Given the description of an element on the screen output the (x, y) to click on. 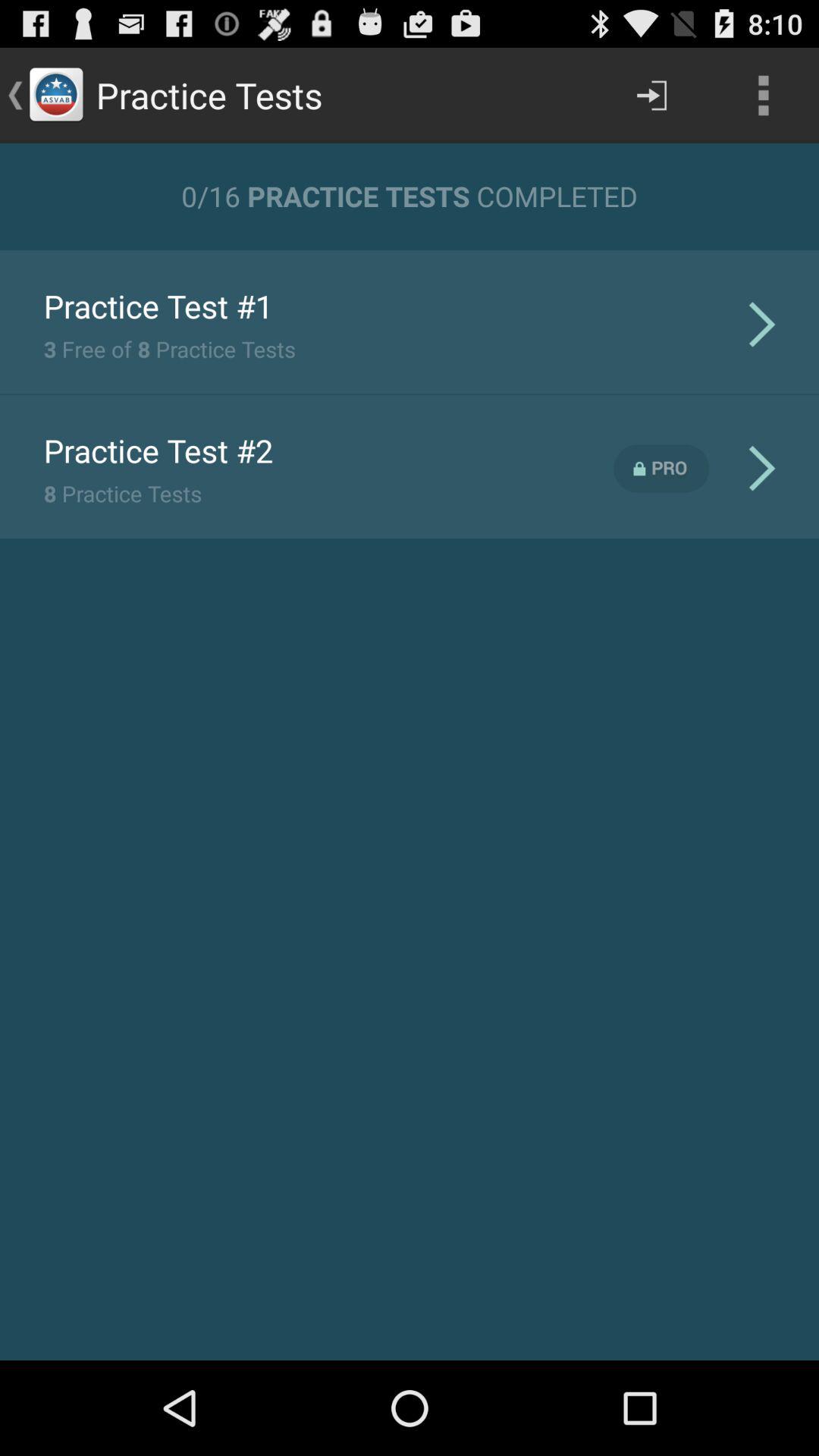
turn off the app above 0 16 practice (763, 95)
